Given the description of an element on the screen output the (x, y) to click on. 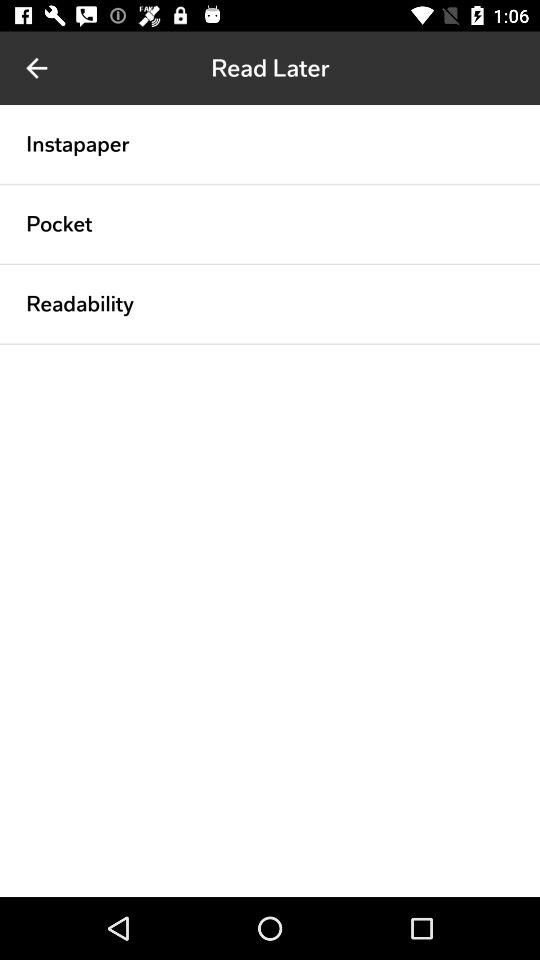
choose the instapaper icon (77, 144)
